Given the description of an element on the screen output the (x, y) to click on. 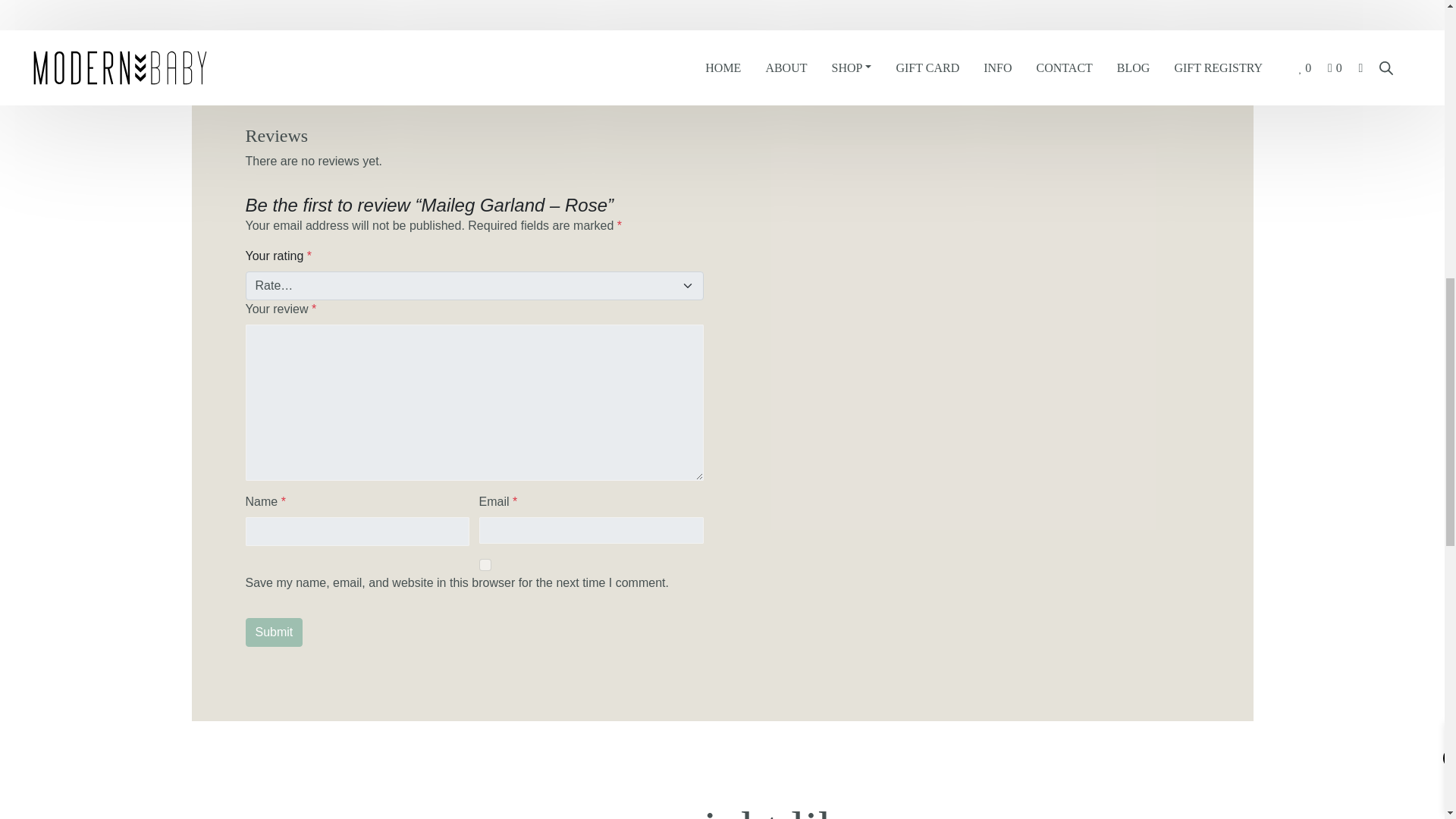
Submit (274, 632)
yes (485, 564)
